Given the description of an element on the screen output the (x, y) to click on. 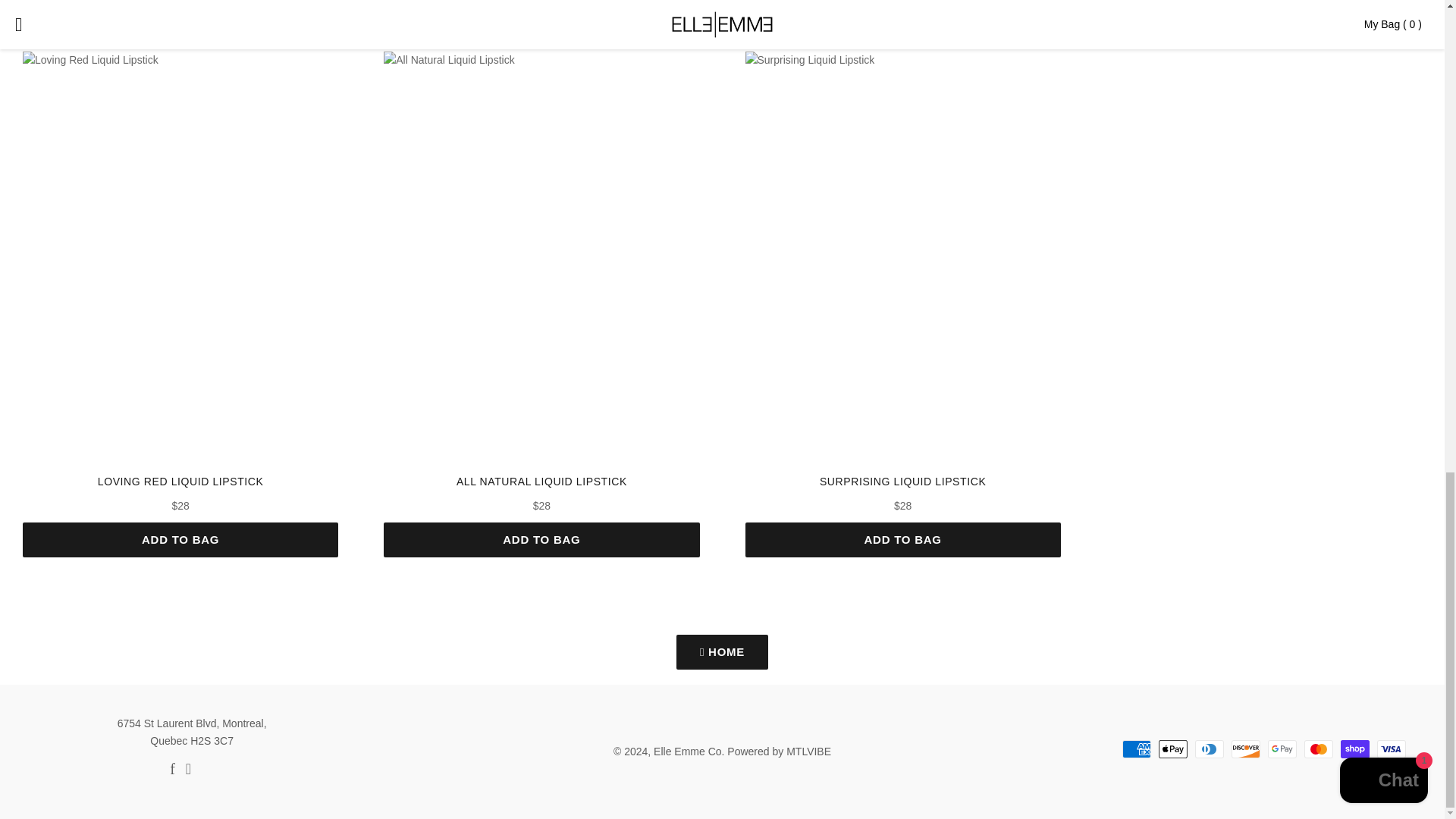
Mastercard (1318, 749)
Diners Club (1209, 749)
Google Pay (1282, 749)
ADD TO BAG (180, 539)
ADD TO BAG (541, 539)
Apple Pay (1173, 749)
American Express (1136, 749)
ADD TO BAG (901, 539)
Discover (1245, 749)
HOME (722, 651)
Visa (1391, 749)
Shop Pay (1355, 749)
Elle Emme Co (686, 751)
MTLVIBE (808, 751)
